Given the description of an element on the screen output the (x, y) to click on. 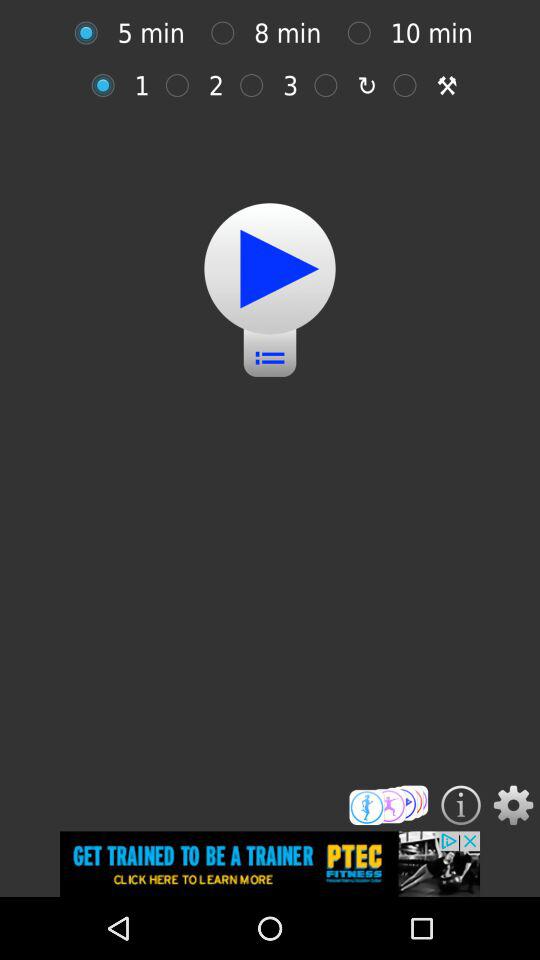
select 3 (256, 85)
